Given the description of an element on the screen output the (x, y) to click on. 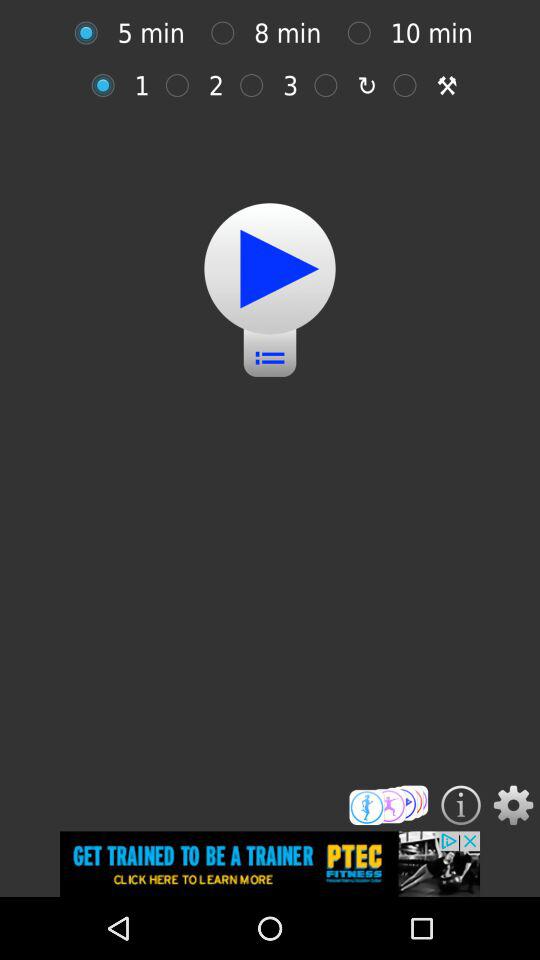
select 3 (256, 85)
